Given the description of an element on the screen output the (x, y) to click on. 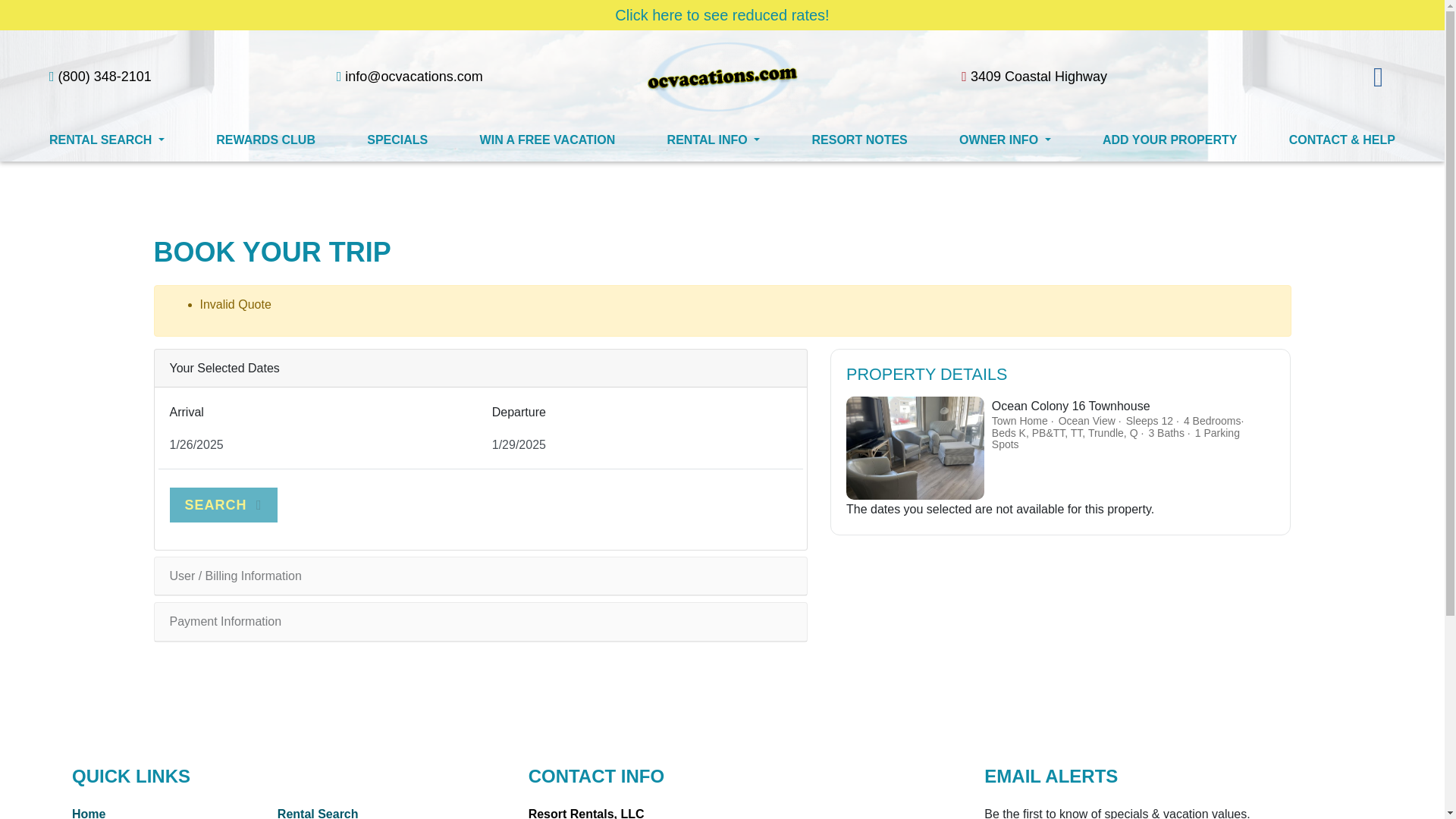
3409 Coastal Highway (1033, 76)
Find us on Facebook! (1377, 75)
RENTAL SEARCH (106, 139)
SPECIALS (397, 139)
Click here to see reduced rates! (721, 14)
WIN A FREE VACATION (547, 139)
RESORT NOTES (859, 139)
OWNER INFO (1005, 139)
Get Directions (1033, 76)
Resort Rentals, LLC Home Page (721, 75)
RENTAL INFO (713, 139)
Resort Rentals, LLC (586, 813)
img-4392.jpg (914, 447)
REWARDS CLUB (265, 139)
ADD YOUR PROPERTY (1169, 139)
